Given the description of an element on the screen output the (x, y) to click on. 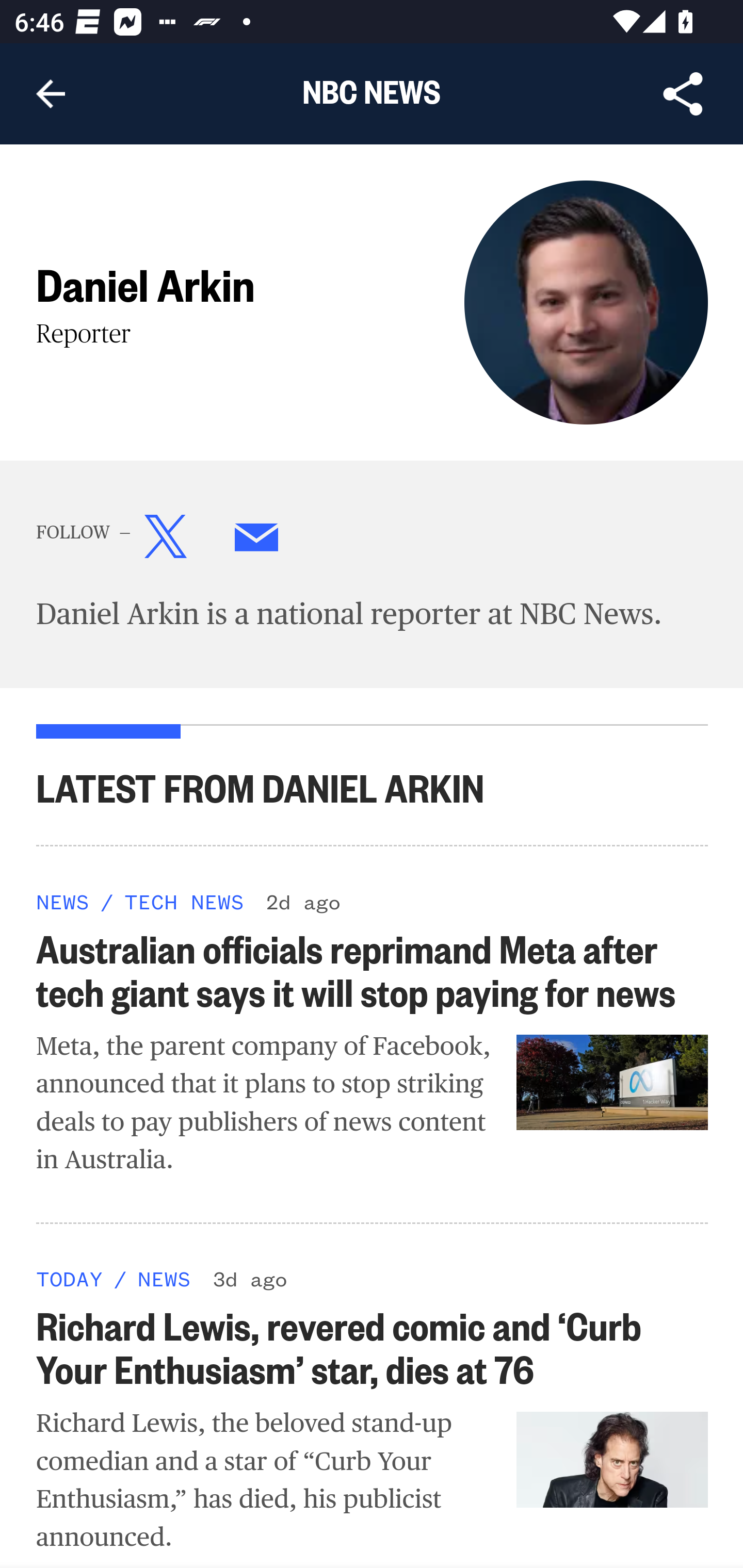
Navigate up (50, 93)
Share Article, button (683, 94)
 (165, 540)
 (256, 540)
NEWS NEWS NEWS (63, 900)
TECH NEWS TECH NEWS TECH NEWS (183, 900)
TODAY TODAY TODAY (69, 1277)
NEWS NEWS NEWS (164, 1277)
